Given the description of an element on the screen output the (x, y) to click on. 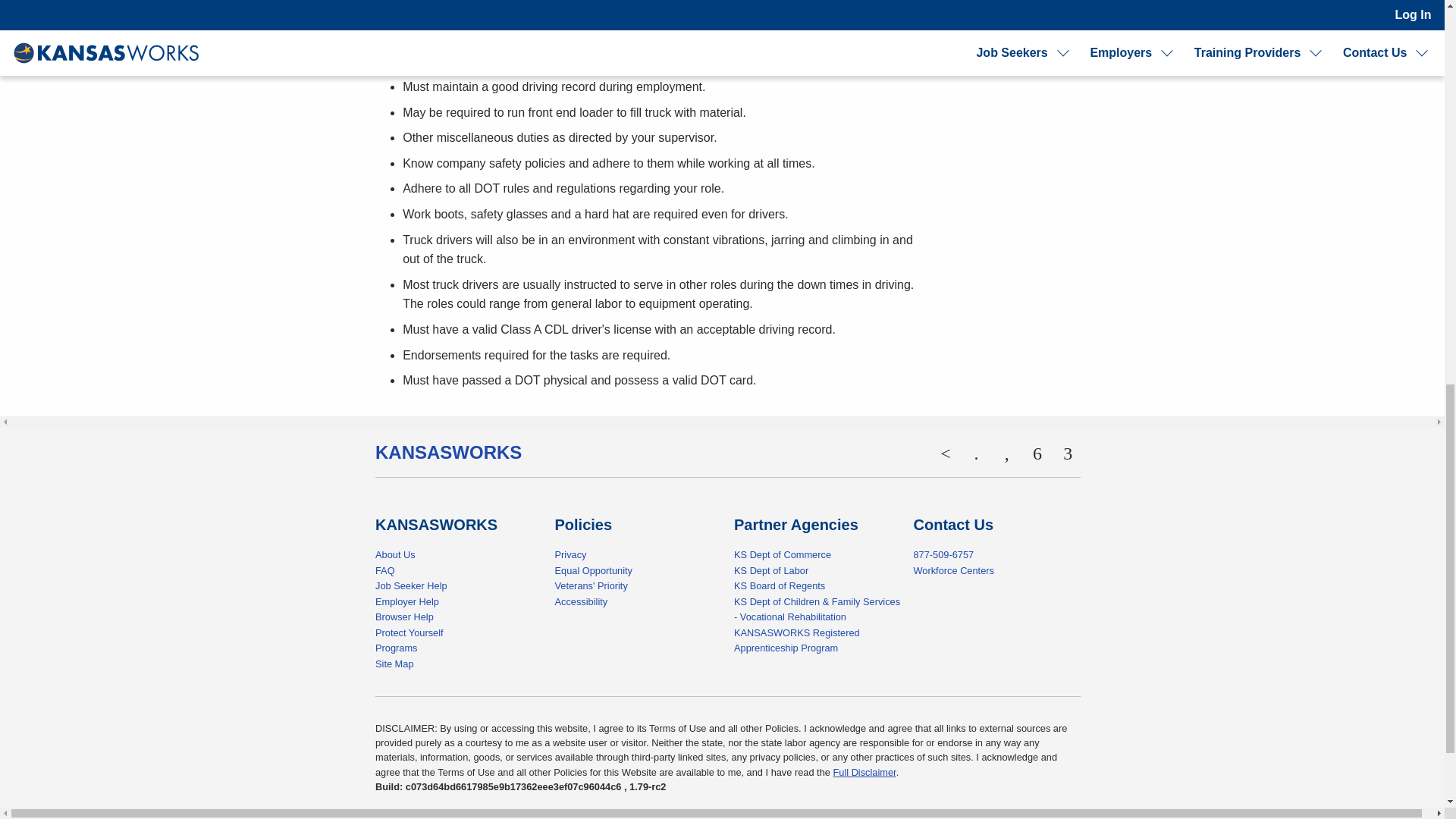
Employer Help (407, 601)
FAQ (384, 570)
Protect Yourself (409, 632)
KANSASWORKS (448, 452)
Browser Help (404, 616)
Job Seeker Help (410, 585)
About Us (394, 554)
